Given the description of an element on the screen output the (x, y) to click on. 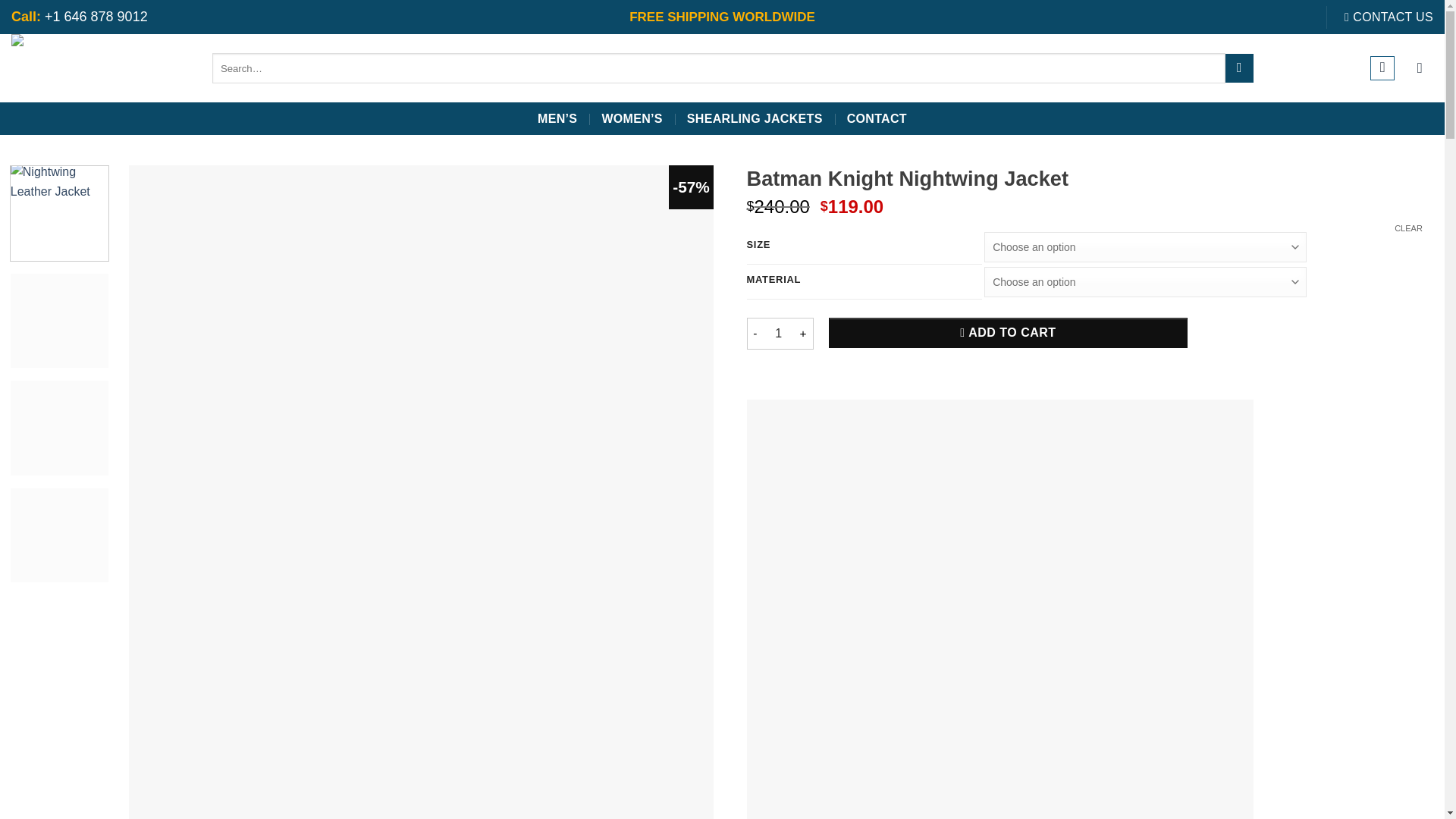
CONTACT (877, 118)
CLEAR (1408, 227)
Cart (1419, 68)
SHEARLING JACKETS (754, 118)
Search (1239, 68)
ADD TO CART (1007, 332)
Qty (777, 333)
1 (777, 333)
Hollywood Leather Jackets (100, 68)
CONTACT US (1387, 17)
